Given the description of an element on the screen output the (x, y) to click on. 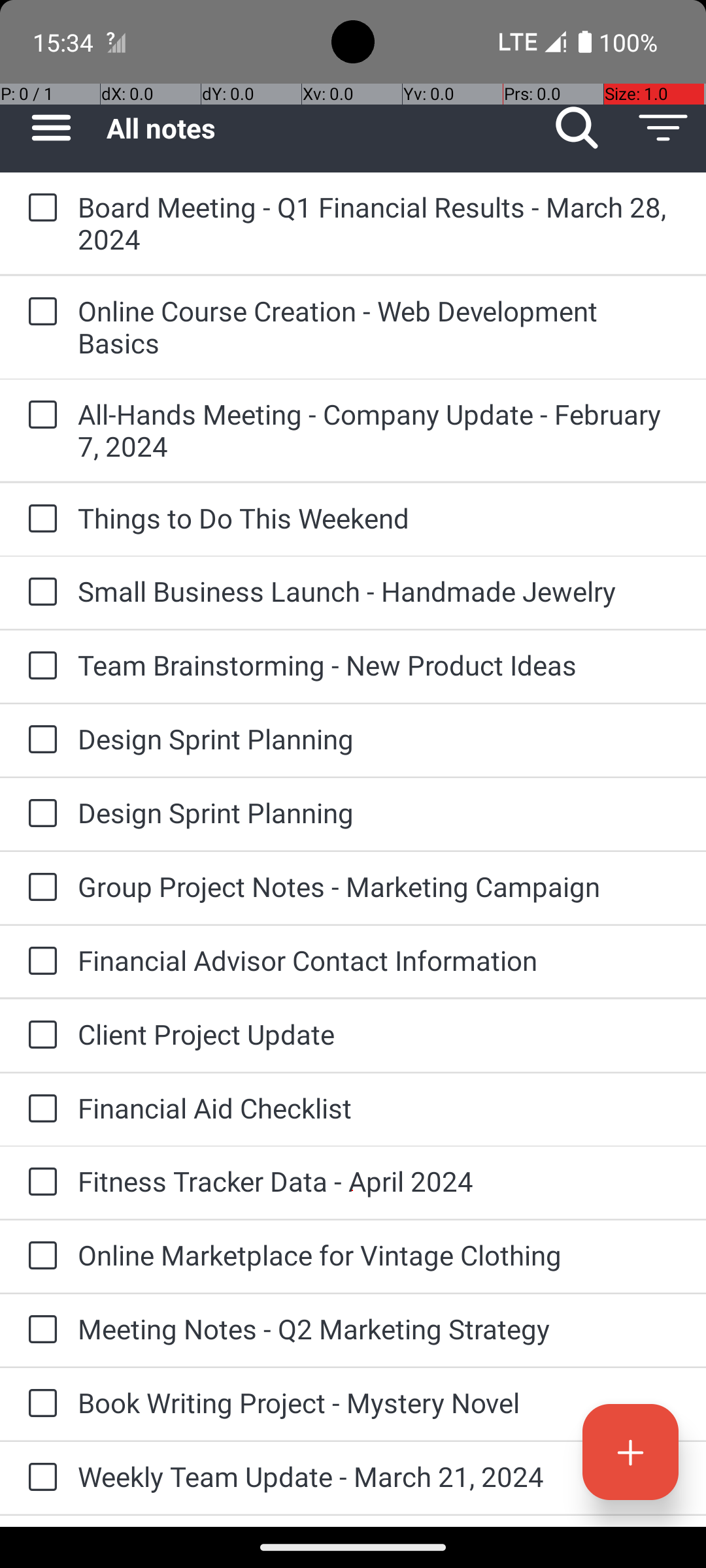
to-do: Board Meeting - Q1 Financial Results - March 28, 2024 Element type: android.widget.CheckBox (38, 208)
Board Meeting - Q1 Financial Results - March 28, 2024 Element type: android.widget.TextView (378, 222)
to-do: Online Course Creation - Web Development Basics Element type: android.widget.CheckBox (38, 312)
Online Course Creation - Web Development Basics Element type: android.widget.TextView (378, 326)
to-do: All-Hands Meeting - Company Update - February 7, 2024 Element type: android.widget.CheckBox (38, 415)
All-Hands Meeting - Company Update - February 7, 2024 Element type: android.widget.TextView (378, 429)
to-do: Things to Do This Weekend Element type: android.widget.CheckBox (38, 519)
Things to Do This Weekend Element type: android.widget.TextView (378, 517)
to-do: Small Business Launch - Handmade Jewelry Element type: android.widget.CheckBox (38, 592)
Small Business Launch - Handmade Jewelry Element type: android.widget.TextView (378, 590)
to-do: Team Brainstorming - New Product Ideas Element type: android.widget.CheckBox (38, 666)
Team Brainstorming - New Product Ideas Element type: android.widget.TextView (378, 664)
to-do: Design Sprint Planning Element type: android.widget.CheckBox (38, 740)
Design Sprint Planning Element type: android.widget.TextView (378, 738)
to-do: Client Project Update Element type: android.widget.CheckBox (38, 1035)
Client Project Update Element type: android.widget.TextView (378, 1033)
to-do: Financial Aid Checklist Element type: android.widget.CheckBox (38, 1109)
Financial Aid Checklist Element type: android.widget.TextView (378, 1107)
to-do: Fitness Tracker Data - April 2024 Element type: android.widget.CheckBox (38, 1182)
Fitness Tracker Data - April 2024 Element type: android.widget.TextView (378, 1180)
to-do: Online Marketplace for Vintage Clothing Element type: android.widget.CheckBox (38, 1256)
Online Marketplace for Vintage Clothing Element type: android.widget.TextView (378, 1254)
to-do: Meeting Notes - Q2 Marketing Strategy Element type: android.widget.CheckBox (38, 1330)
Meeting Notes - Q2 Marketing Strategy Element type: android.widget.TextView (378, 1328)
to-do: Book Writing Project - Mystery Novel Element type: android.widget.CheckBox (38, 1403)
Book Writing Project - Mystery Novel Element type: android.widget.TextView (378, 1402)
to-do: Weekly Team Update - March 21, 2024 Element type: android.widget.CheckBox (38, 1477)
Weekly Team Update - March 21, 2024 Element type: android.widget.TextView (378, 1475)
to-do: Budget Review Meeting Element type: android.widget.CheckBox (38, 1520)
